Given the description of an element on the screen output the (x, y) to click on. 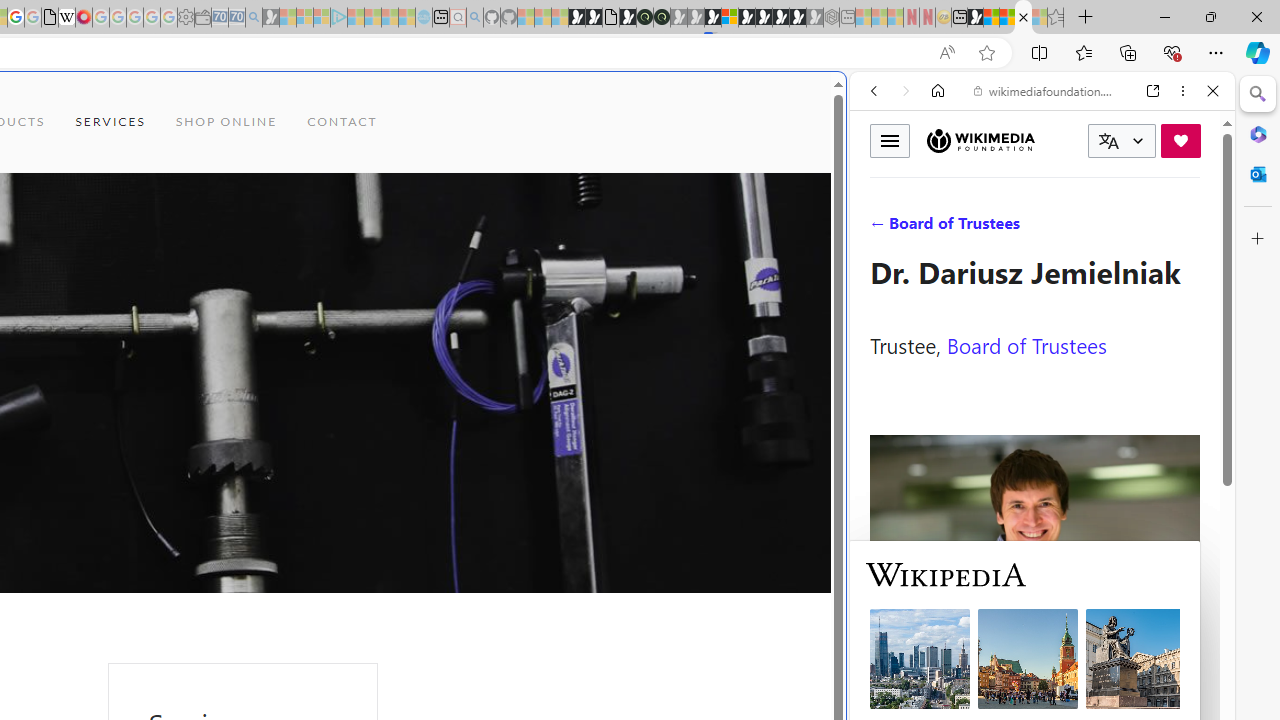
Sign in to your account (729, 17)
Settings - Sleeping (185, 17)
SERVICES (110, 122)
Search Filter, WEB (882, 228)
